Given the description of an element on the screen output the (x, y) to click on. 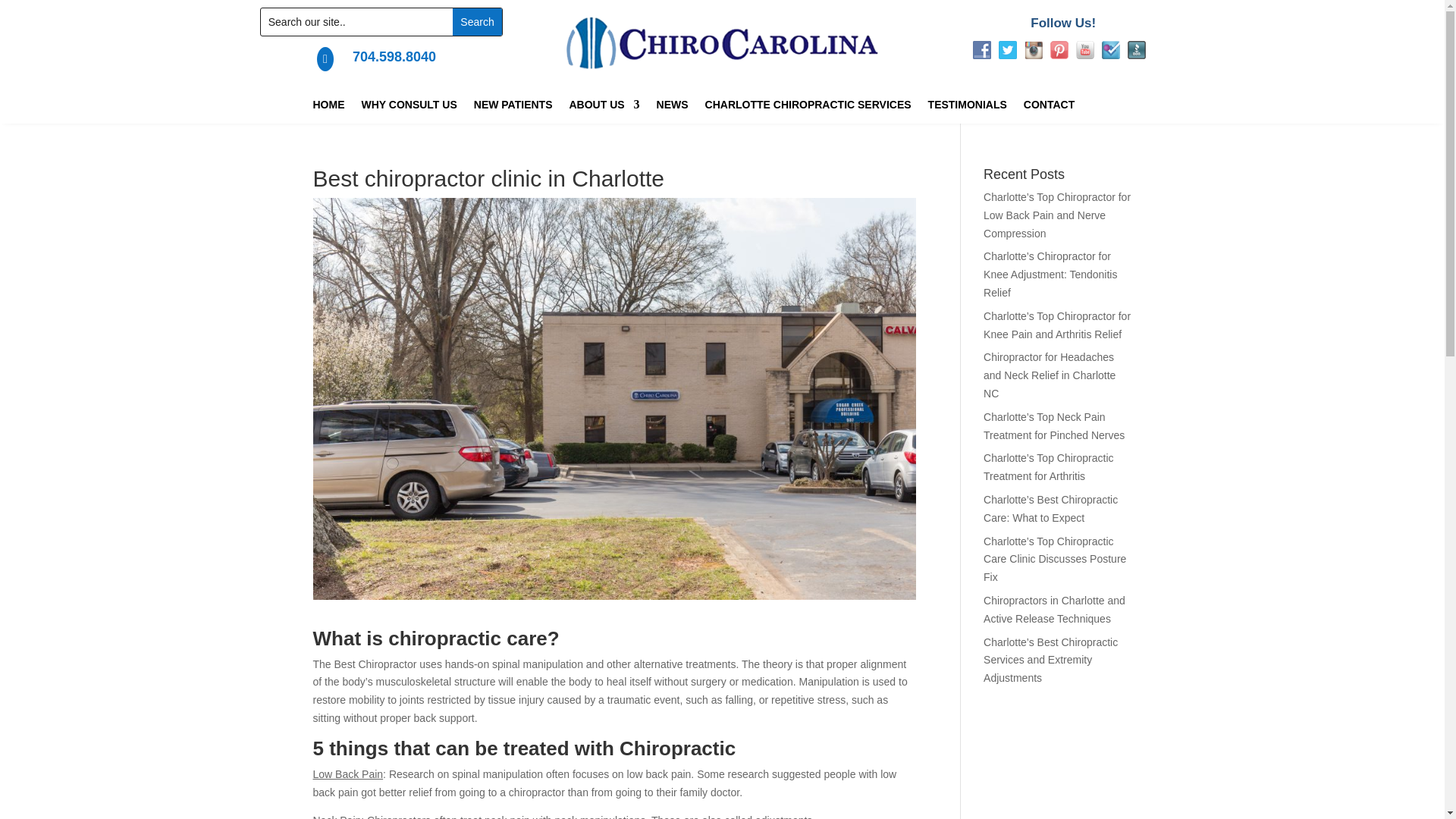
Follow Us on YouTube (1084, 49)
HOME (328, 107)
CHARLOTTE CHIROPRACTIC SERVICES (807, 107)
704.598.8040 (393, 56)
Follow Us on Instagram (1033, 49)
Search (476, 22)
ABOUT US (604, 107)
WHY CONSULT US (409, 107)
NEW PATIENTS (513, 107)
Follow Us on Foursquare (1110, 49)
